Given the description of an element on the screen output the (x, y) to click on. 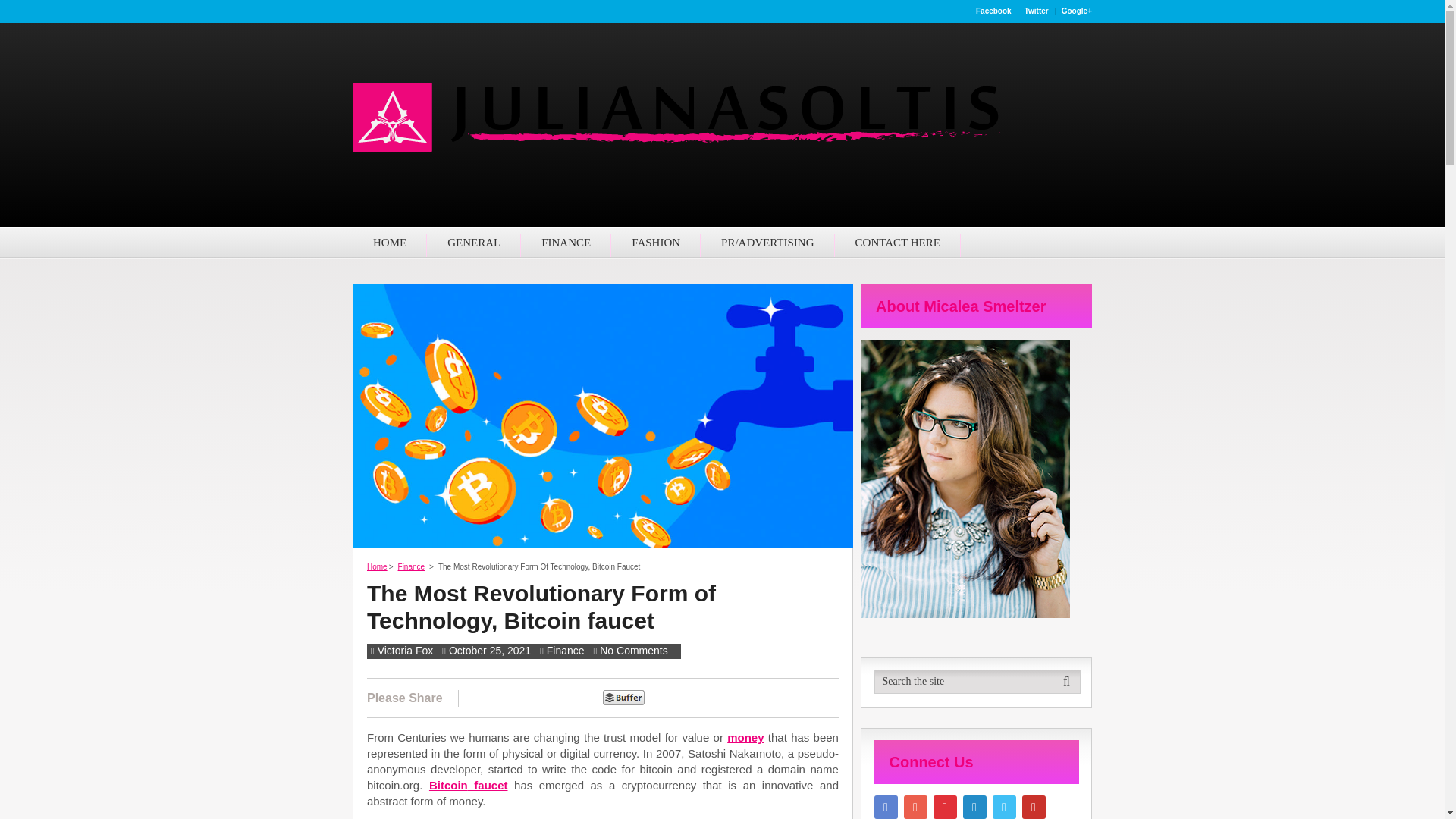
GENERAL (473, 242)
CONTACT HERE (897, 242)
FASHION (655, 242)
Posts by Victoria Fox (405, 650)
HOME (389, 242)
Facebook (993, 11)
Victoria Fox (405, 650)
Bitcoin faucet (468, 784)
Twitter (1036, 11)
FINANCE (566, 242)
Finance (566, 650)
Finance (411, 566)
money (744, 737)
Home (376, 566)
View all posts in Finance (566, 650)
